Given the description of an element on the screen output the (x, y) to click on. 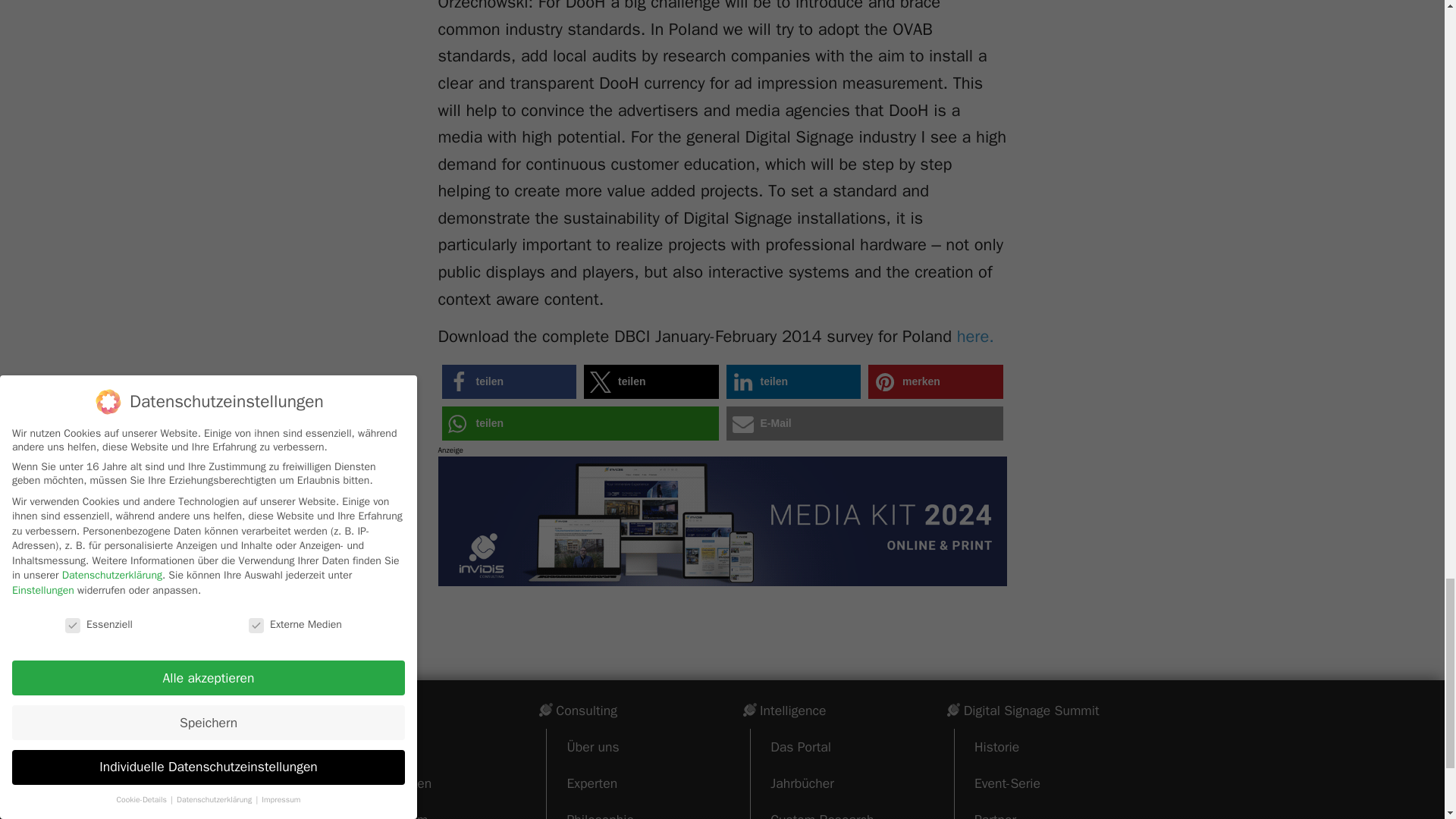
teilen  (508, 381)
Mediadaten (397, 782)
teilen  (651, 381)
Kontakt (384, 746)
Impressum (395, 810)
here. (975, 336)
invidis (361, 710)
teilen  (793, 381)
merken  (935, 381)
E-Mail  (864, 423)
